Given the description of an element on the screen output the (x, y) to click on. 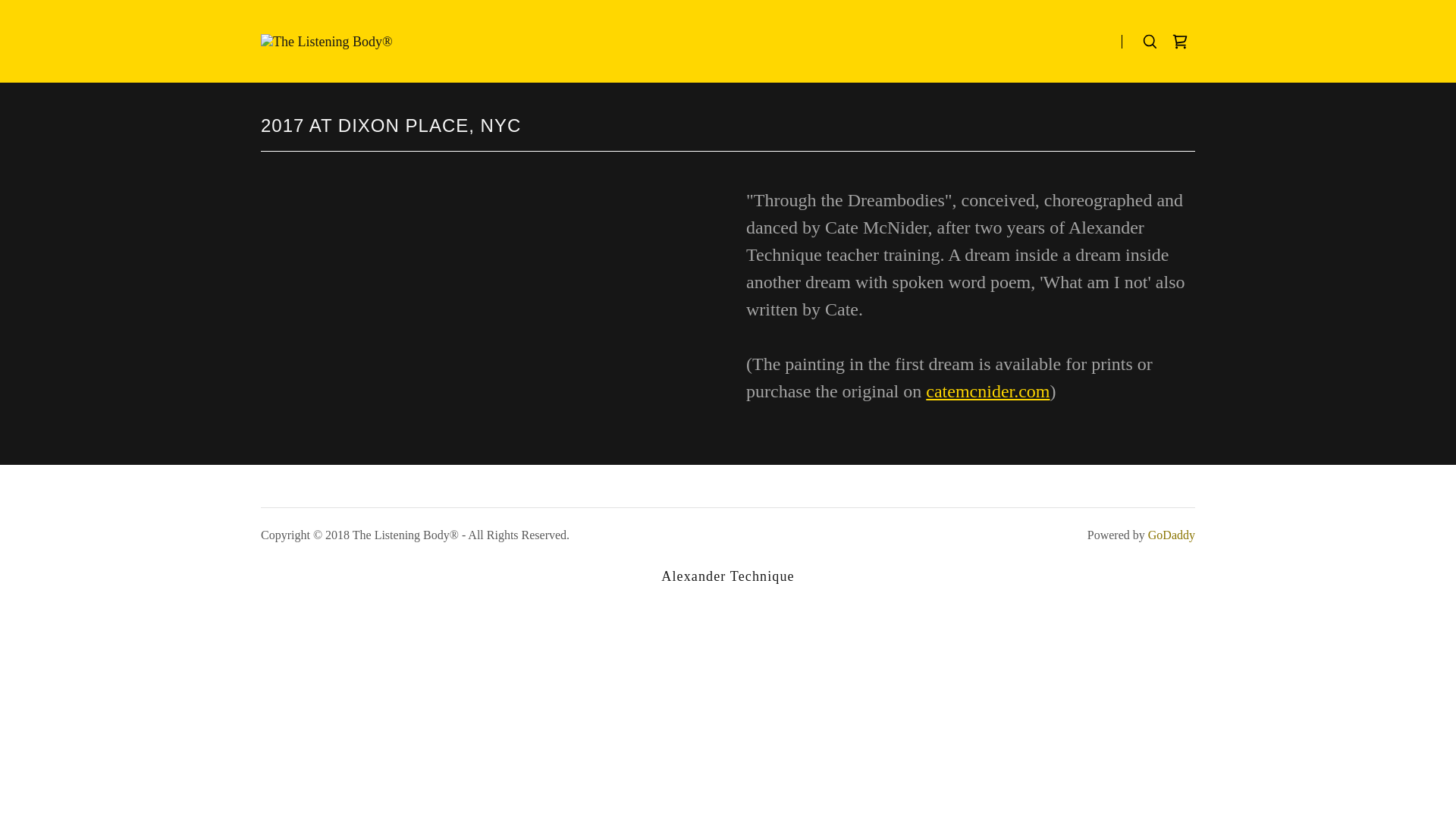
Alexander Technique (727, 576)
GoDaddy (1171, 534)
catemcnider.com (987, 391)
